Given the description of an element on the screen output the (x, y) to click on. 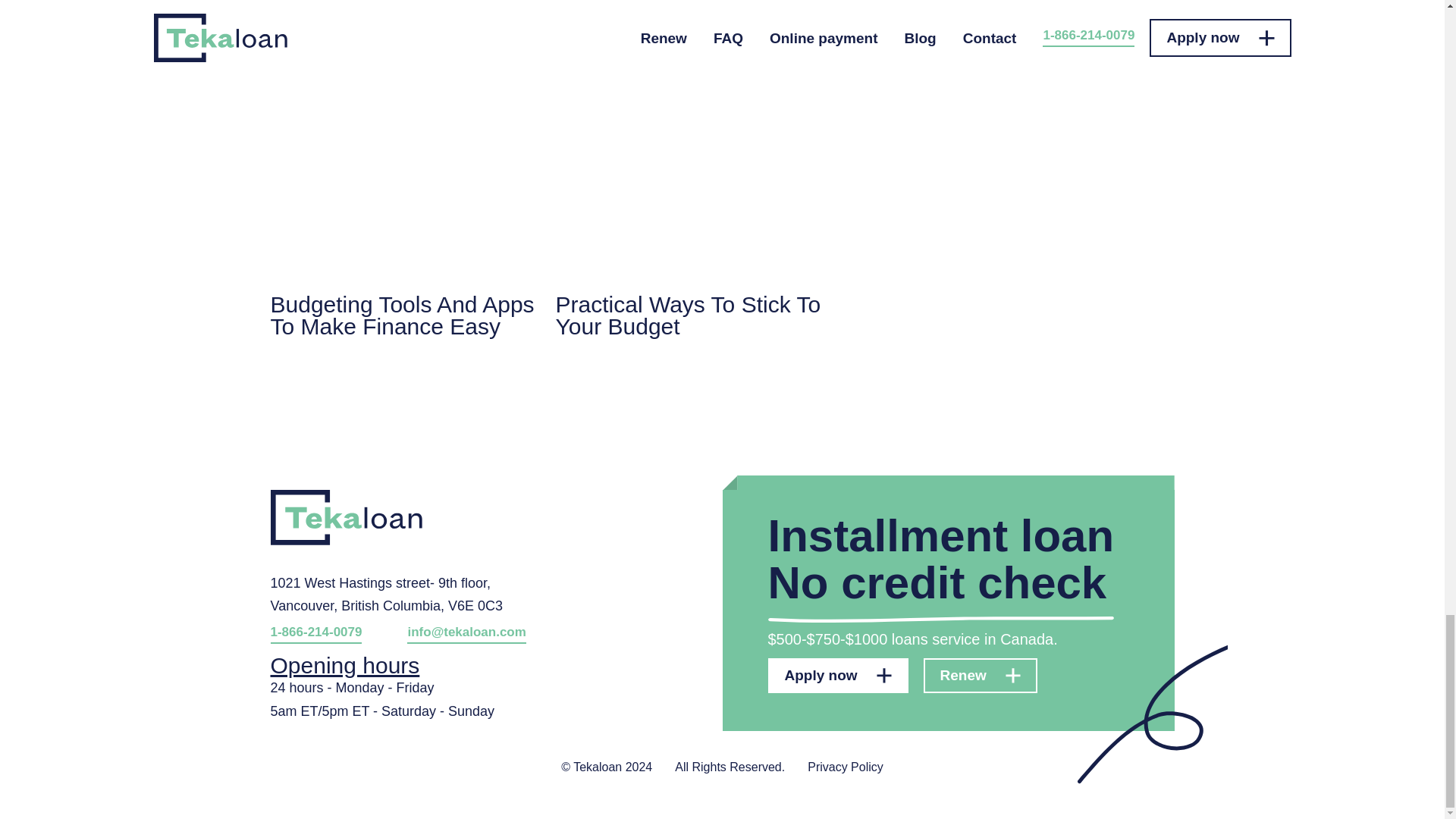
Budgeting Tools And Apps To Make Finance Easy (402, 203)
Practical Ways To Stick To Your Budget (689, 203)
The Importance Of Emergency Funds In Budgeting (689, 15)
Simplify Your Finances With Effective Budgeting Strategies (402, 15)
Apply now (837, 675)
Privacy Policy (845, 774)
Renew (979, 675)
1-866-214-0079 (315, 634)
